Given the description of an element on the screen output the (x, y) to click on. 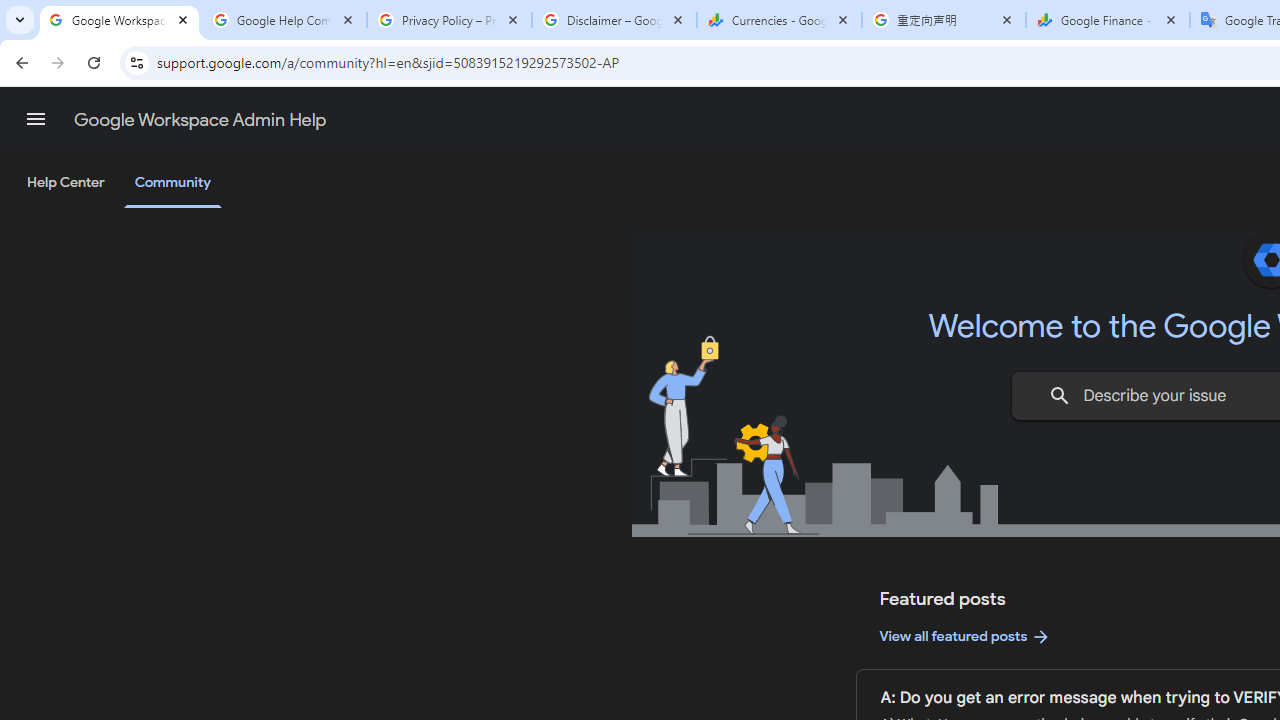
This PC (507, 414)
Folders (984, 224)
OneDrive (507, 323)
Shared with Me (507, 255)
Recent (507, 184)
Add a Place (507, 501)
Get Add-ins (104, 504)
Browse (507, 564)
Back (104, 94)
